Given the description of an element on the screen output the (x, y) to click on. 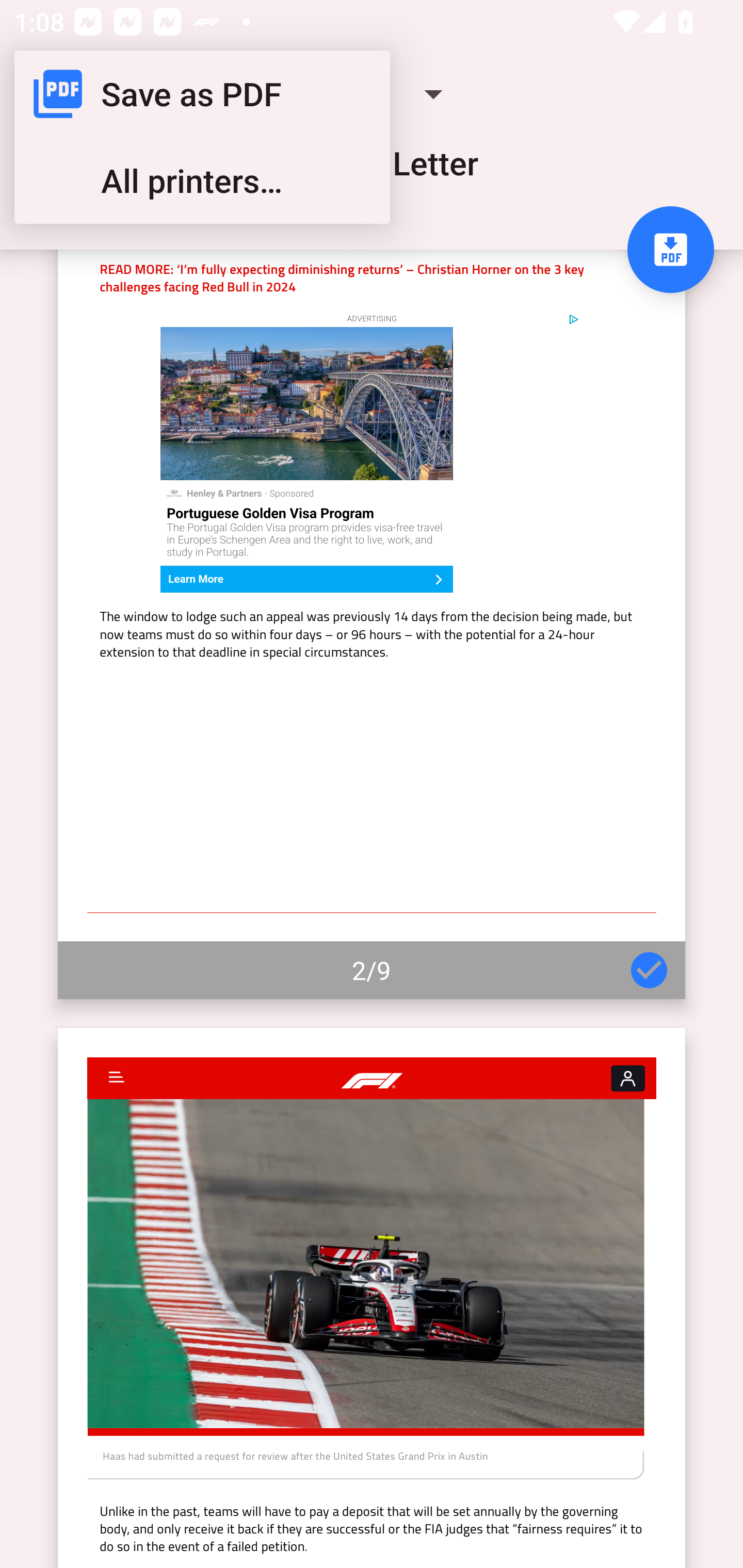
Save as PDF (202, 93)
All printers… (202, 180)
